Given the description of an element on the screen output the (x, y) to click on. 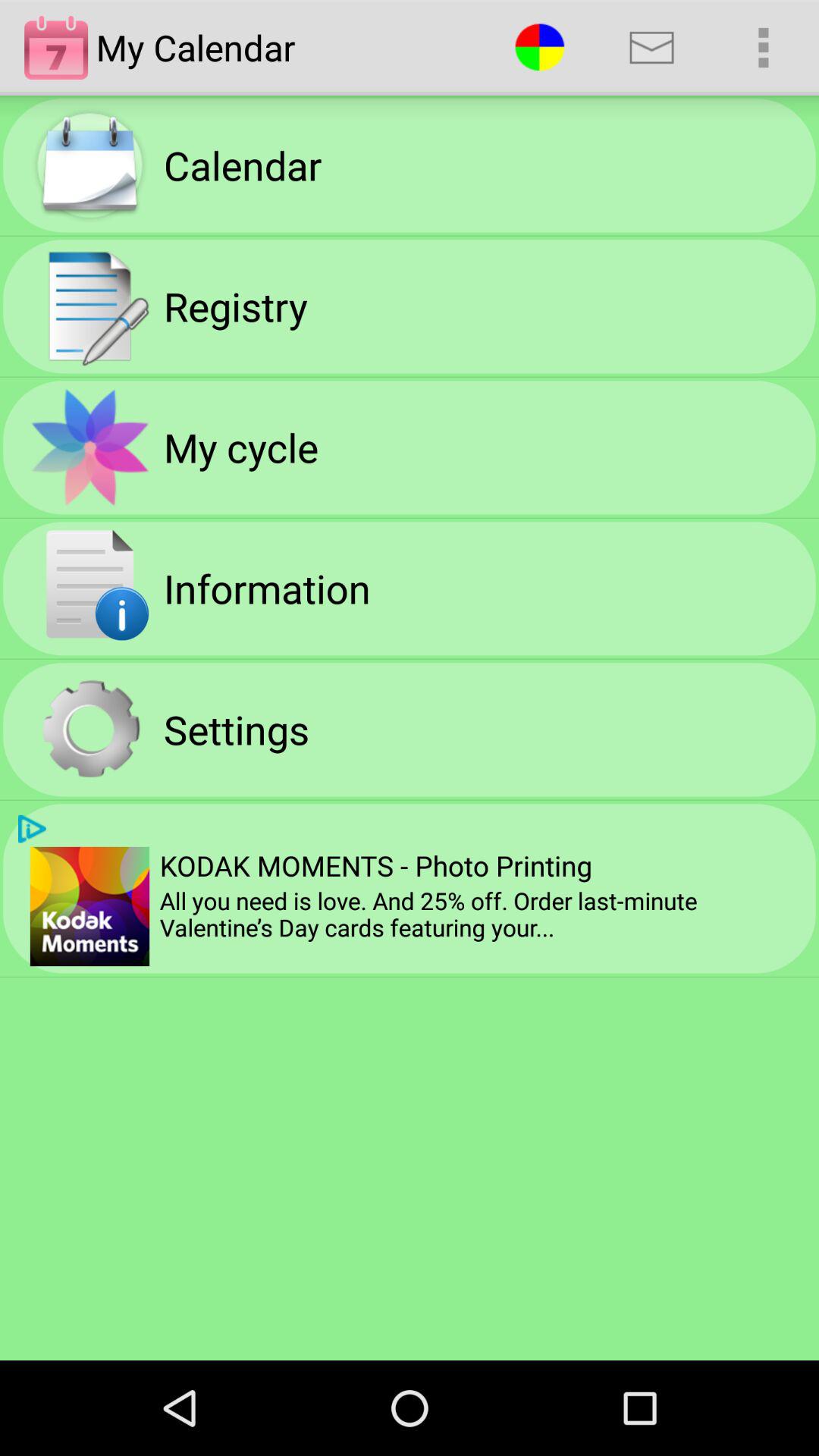
tap item to the right of the my calendar (540, 47)
